Given the description of an element on the screen output the (x, y) to click on. 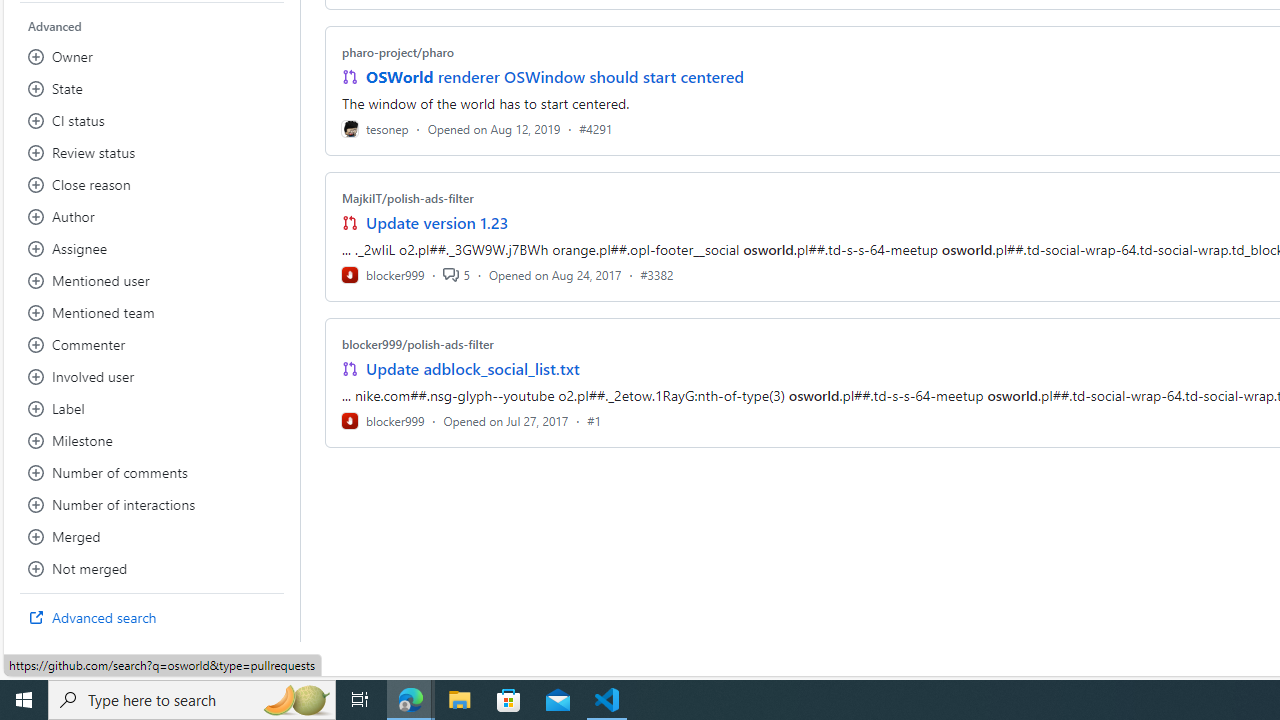
#1 (594, 420)
Update adblock_social_list.txt (472, 368)
MajkiIT/polish-ads-filter (407, 197)
#3382 (657, 273)
5 (455, 273)
blocker999 (382, 420)
